Given the description of an element on the screen output the (x, y) to click on. 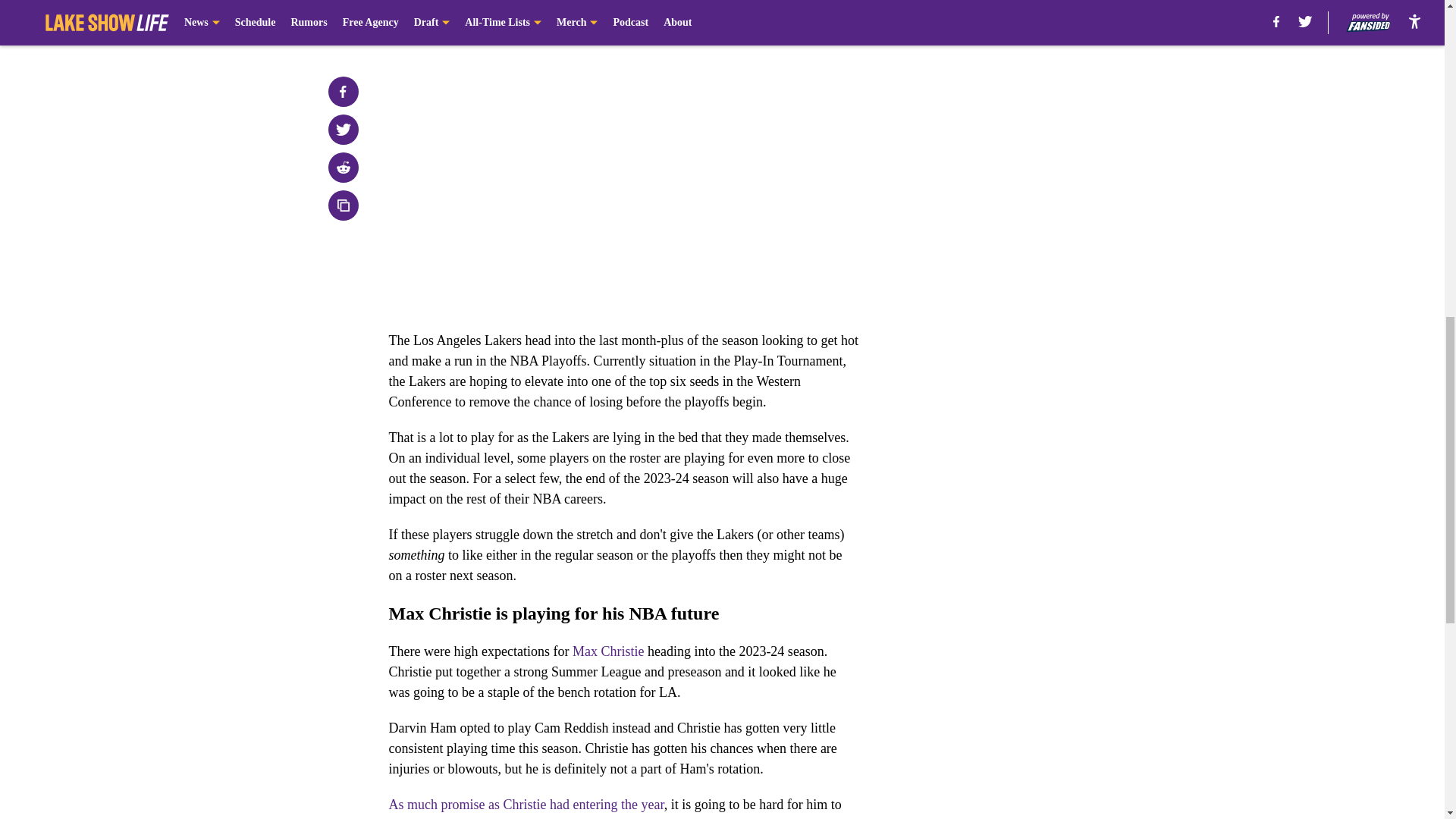
Max Christie (608, 651)
Prev (433, 20)
Next (813, 20)
As much promise as Christie had entering the year (525, 804)
